Given the description of an element on the screen output the (x, y) to click on. 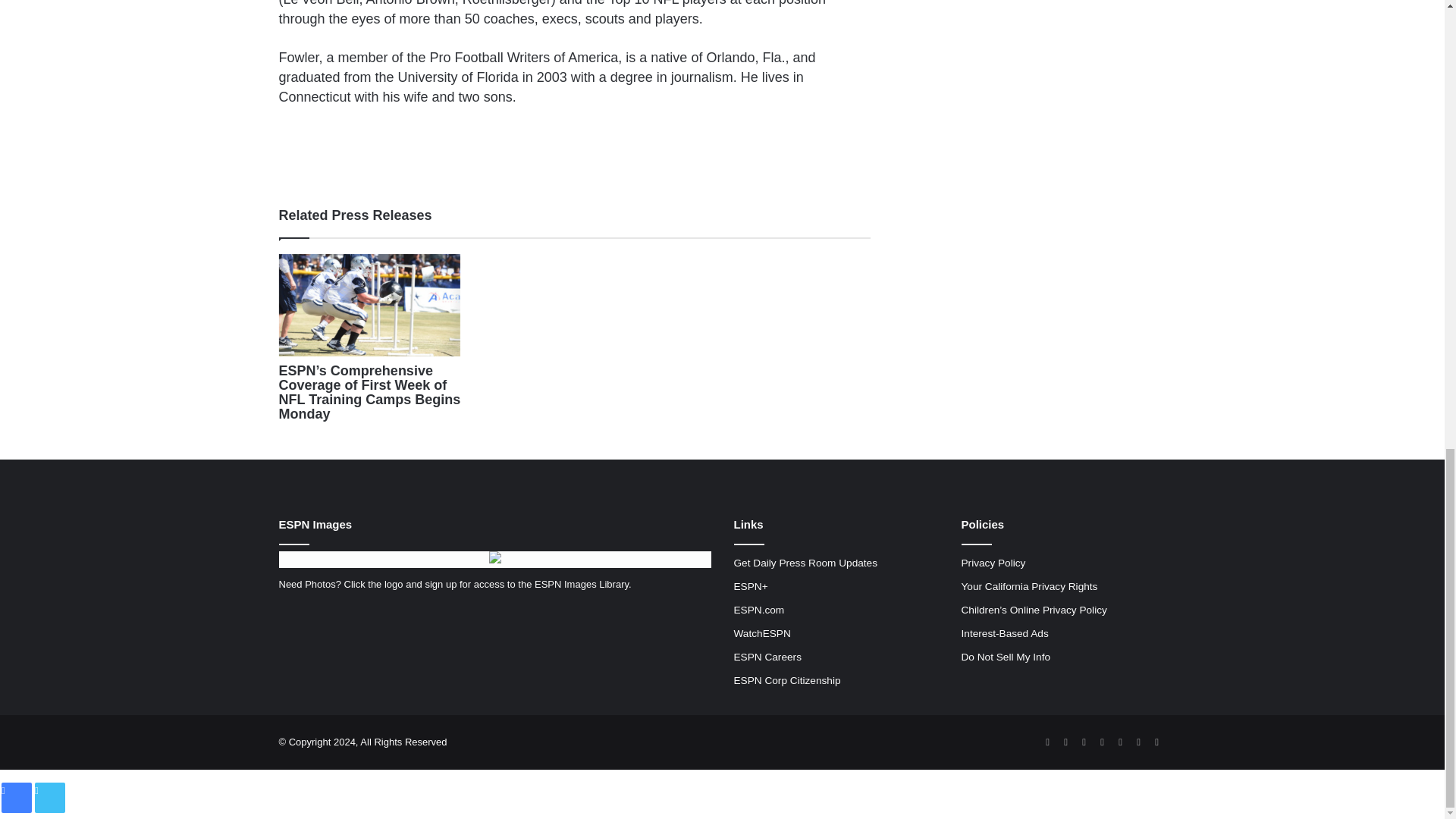
ESPN Images Library (581, 583)
ESPN.com (758, 609)
WatchESPN (761, 633)
Get Daily Press Room Updates (805, 562)
